Given the description of an element on the screen output the (x, y) to click on. 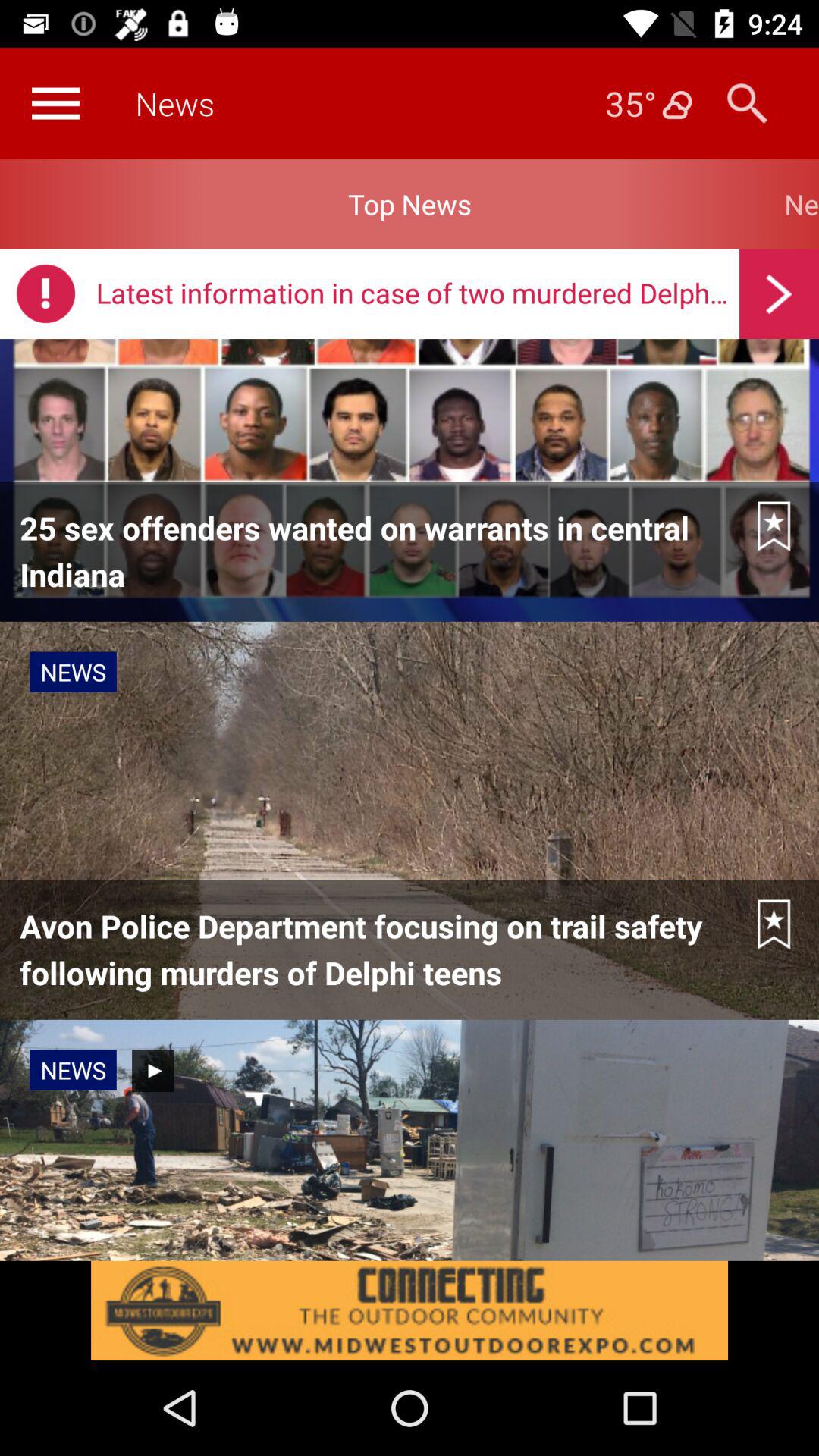
advertisement (409, 1310)
